Given the description of an element on the screen output the (x, y) to click on. 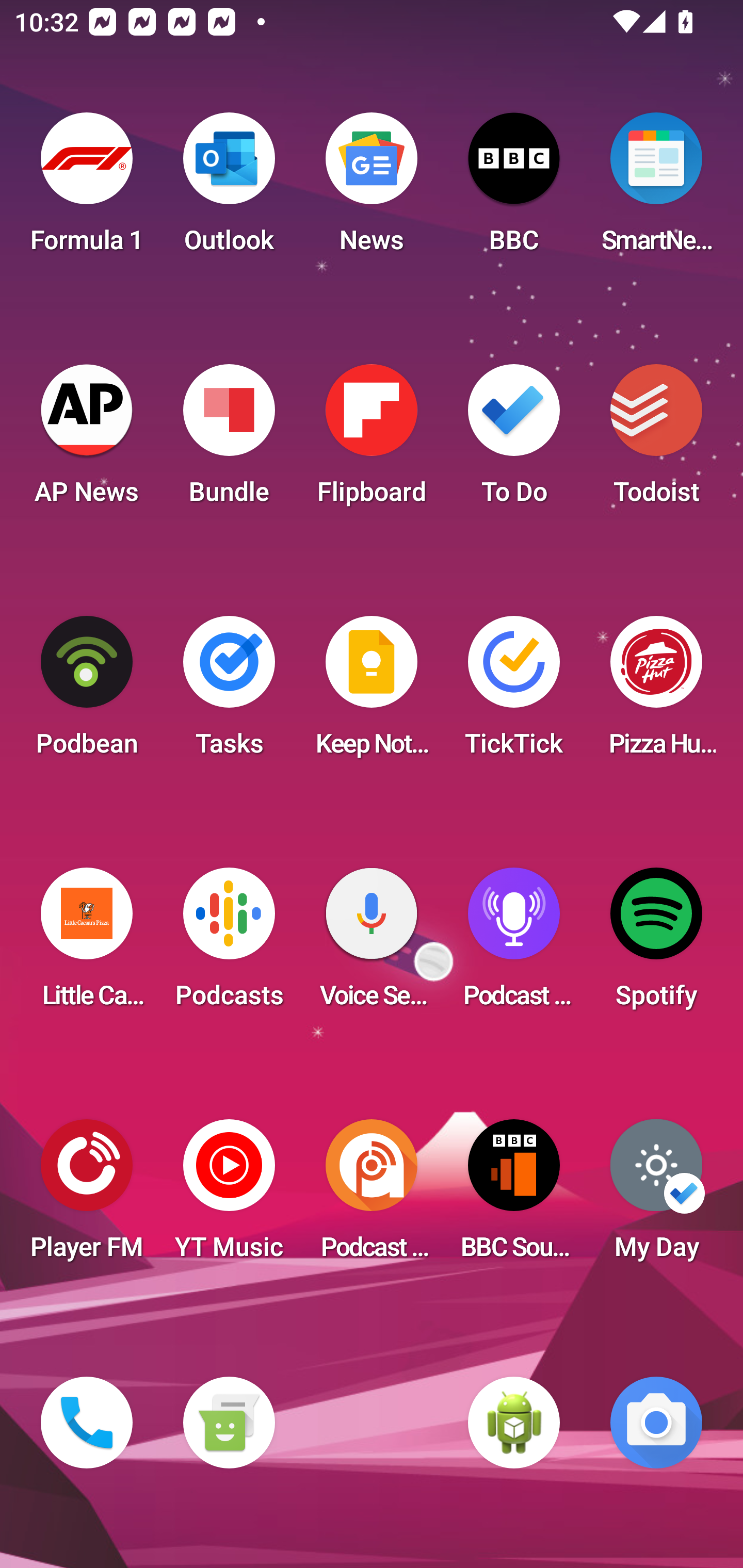
Formula 1 (86, 188)
Outlook (228, 188)
News (371, 188)
BBC (513, 188)
SmartNews (656, 188)
AP News (86, 440)
Bundle (228, 440)
Flipboard (371, 440)
To Do (513, 440)
Todoist (656, 440)
Podbean (86, 692)
Tasks (228, 692)
Keep Notes (371, 692)
TickTick (513, 692)
Pizza Hut HK & Macau (656, 692)
Little Caesars Pizza (86, 943)
Podcasts (228, 943)
Voice Search (371, 943)
Podcast Player (513, 943)
Spotify (656, 943)
Player FM (86, 1195)
YT Music (228, 1195)
Podcast Addict (371, 1195)
BBC Sounds (513, 1195)
My Day (656, 1195)
Phone (86, 1422)
Messaging (228, 1422)
WebView Browser Tester (513, 1422)
Camera (656, 1422)
